Given the description of an element on the screen output the (x, y) to click on. 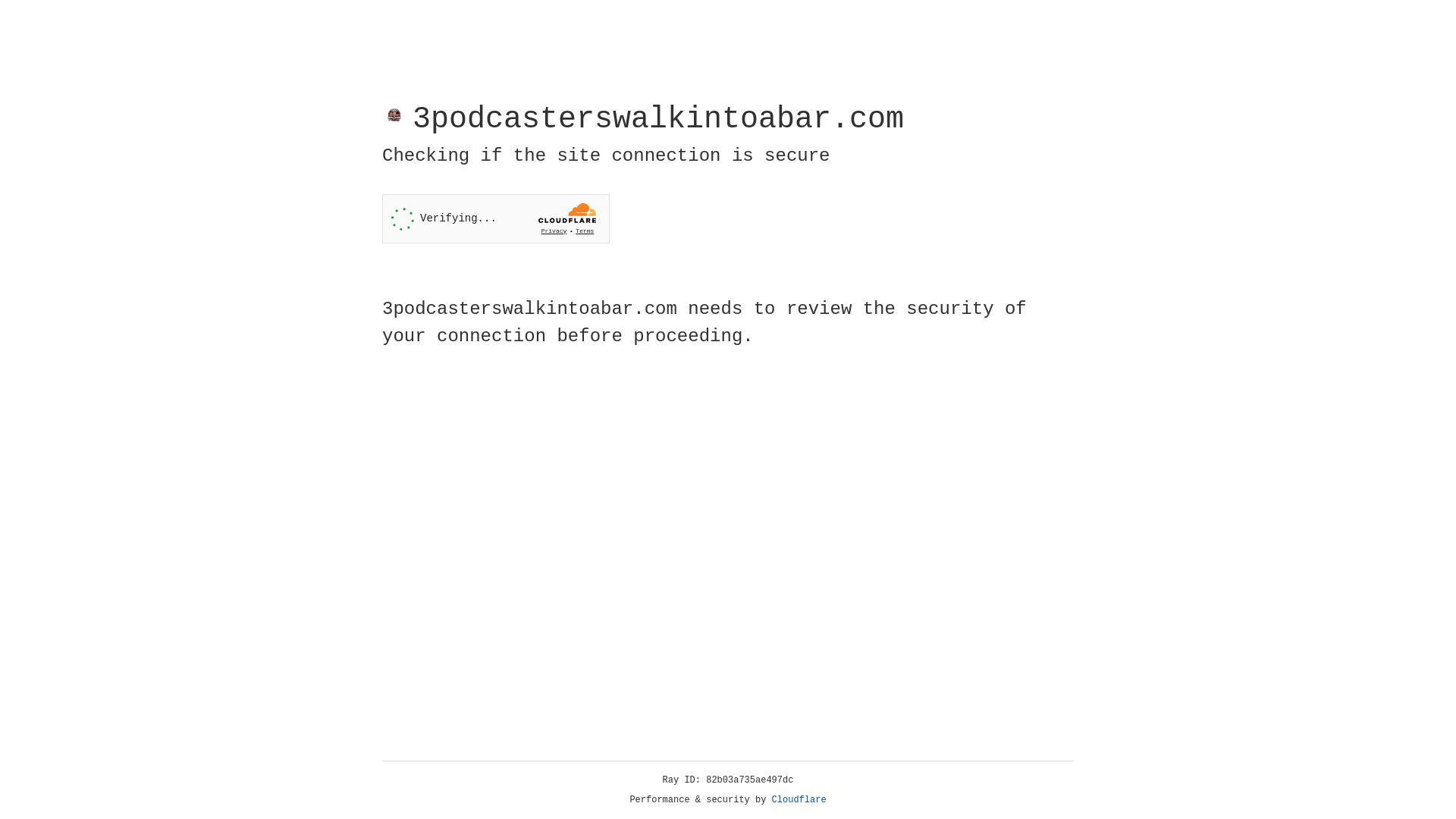
Widget containing a Cloudflare security challenge Element type: hover (495, 218)
Cloudflare Element type: text (798, 799)
